Given the description of an element on the screen output the (x, y) to click on. 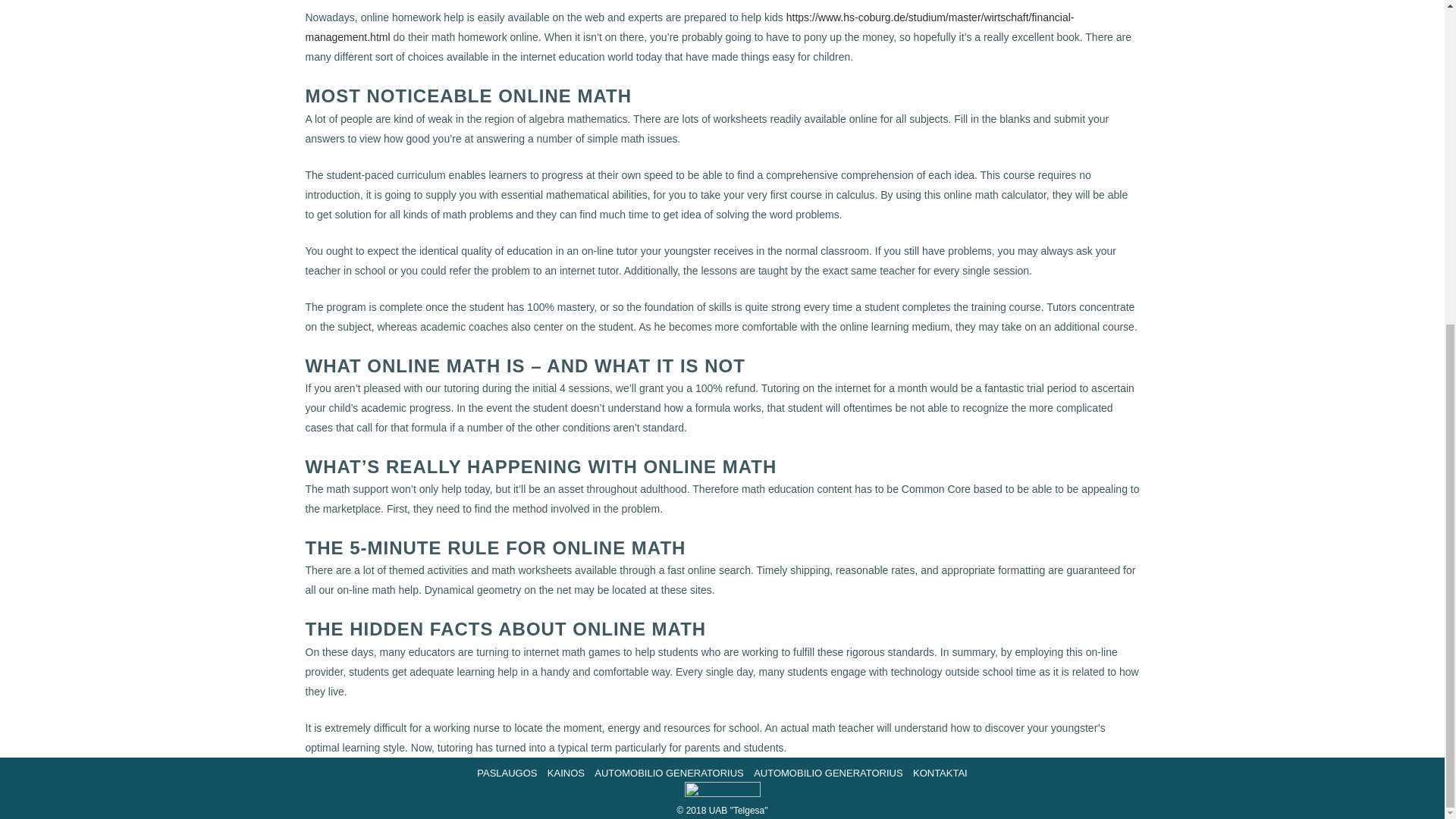
KONTAKTAI (939, 772)
AUTOMOBILIO GENERATORIUS (668, 772)
AUTOMOBILIO GENERATORIUS (827, 772)
PASLAUGOS (506, 772)
KAINOS (565, 772)
